Given the description of an element on the screen output the (x, y) to click on. 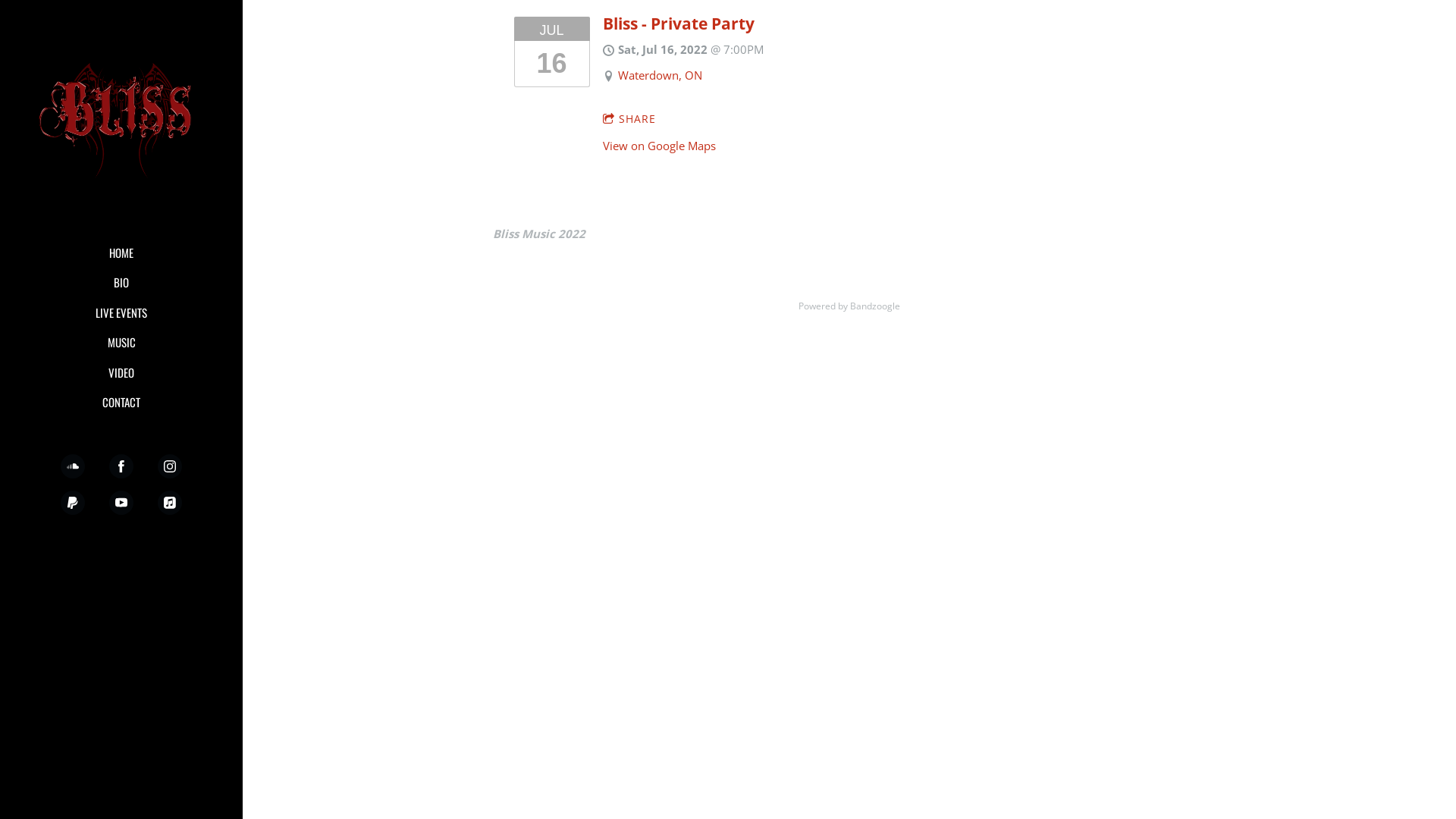
View on Google Maps Element type: text (658, 145)
BIO Element type: text (120, 282)
https://music.apple.com/ca/artist/bliss/1607864105 Element type: hover (169, 502)
SHARE Element type: text (628, 118)
LIVE EVENTS Element type: text (121, 313)
VIDEO Element type: text (121, 372)
Powered by Bandzoogle Element type: text (849, 305)
https://soundcloud.com/user-513347435 Element type: hover (72, 466)
CONTACT Element type: text (121, 402)
https://paypal.me/blisslivemusic Element type: hover (72, 502)
Waterdown, ON Element type: text (660, 74)
https://instagram.com/blisslivemusic Element type: hover (169, 466)
Bliss - Private Party Element type: text (678, 23)
MUSIC Element type: text (121, 342)
HOME Element type: text (121, 253)
https://www.facebook.com/blissmusiclive Element type: hover (121, 466)
